Given the description of an element on the screen output the (x, y) to click on. 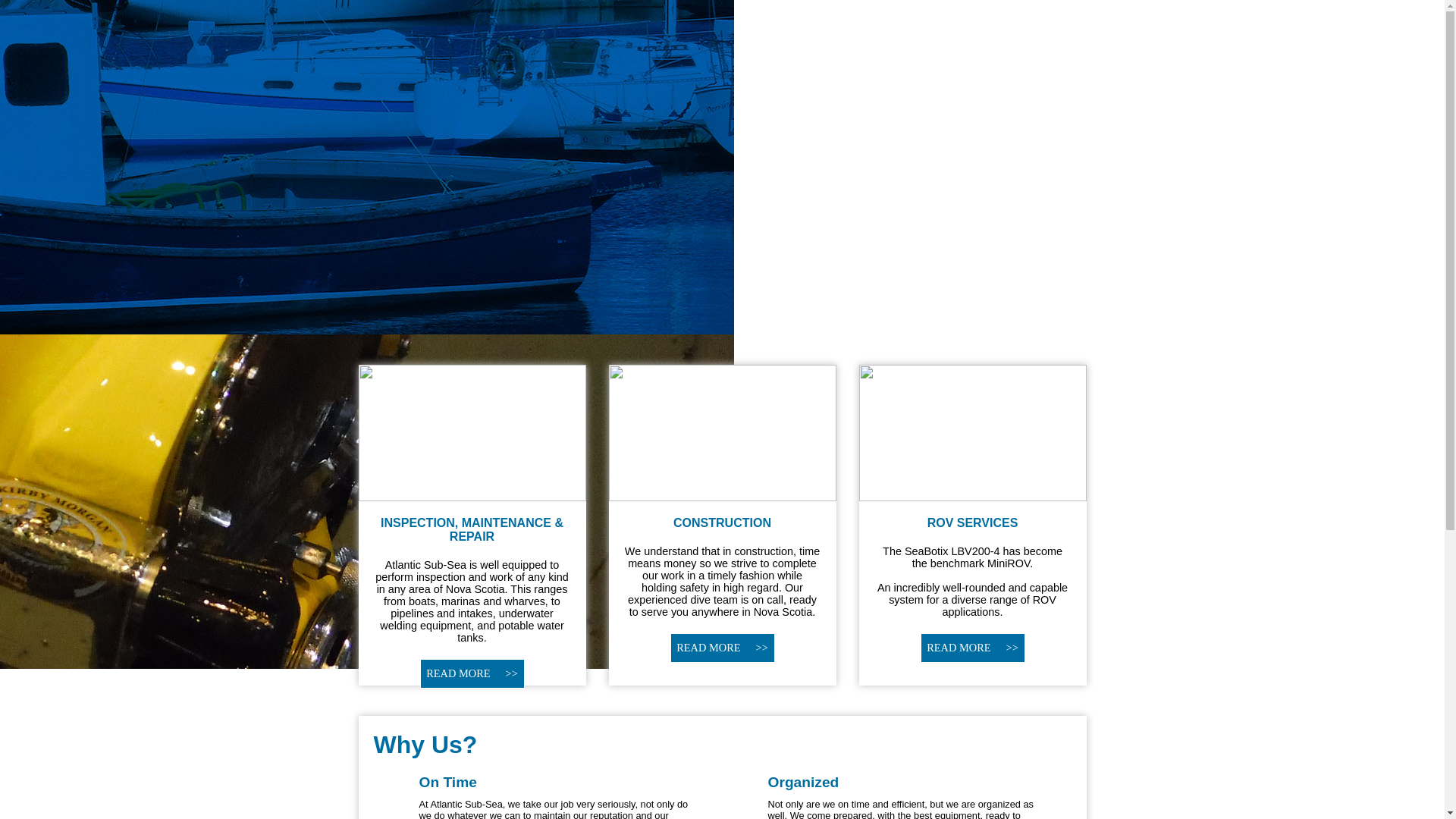
What We Do Element type: text (945, 752)
Contact Us Element type: text (1042, 752)
READ MORE Element type: text (472, 673)
Home Element type: text (787, 752)
About Us Element type: text (856, 752)
READ MORE Element type: text (722, 647)
READ MORE Element type: text (972, 647)
